Given the description of an element on the screen output the (x, y) to click on. 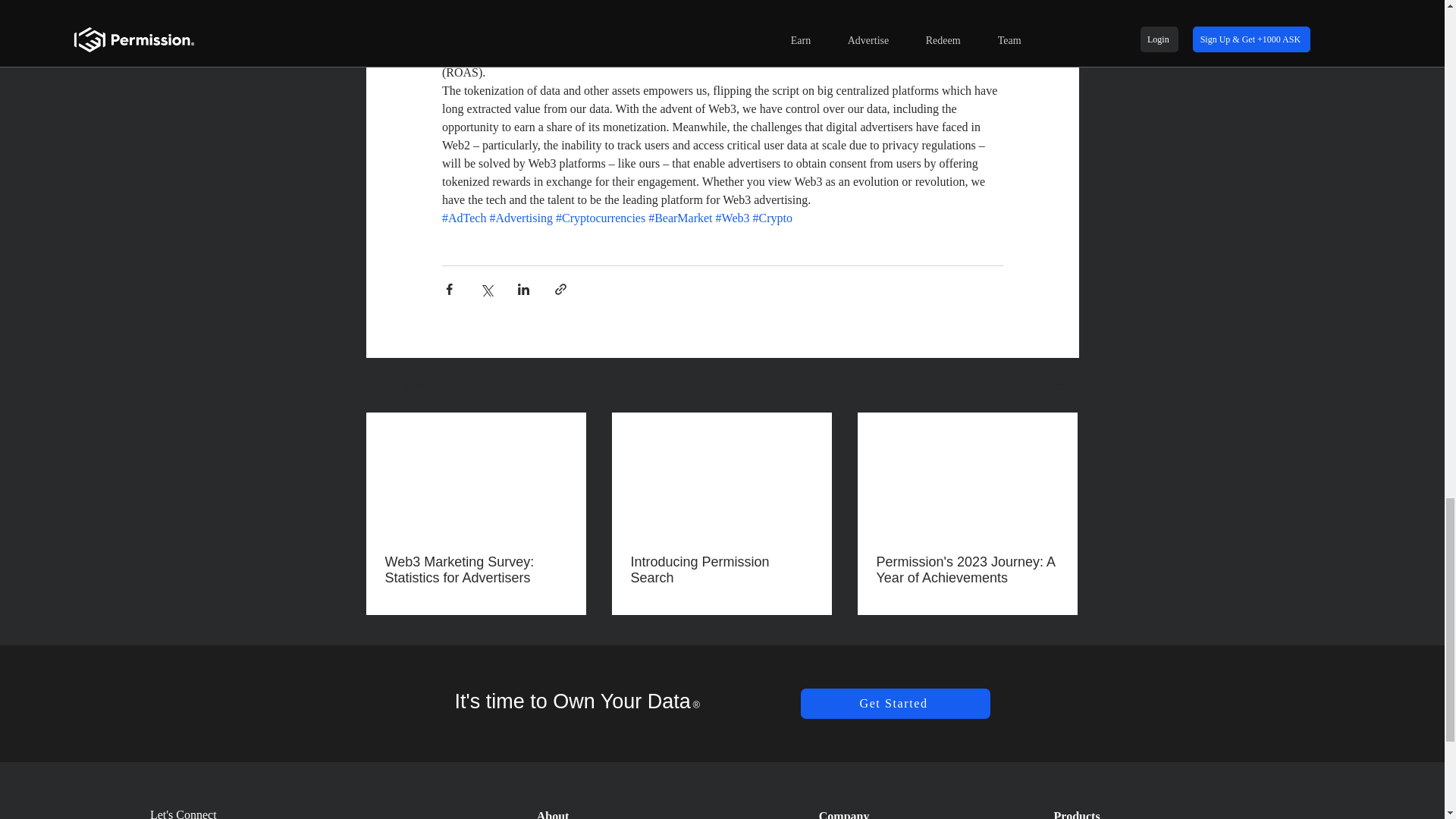
Introducing Permission Search (721, 570)
Get Started (895, 703)
Web3 Marketing Survey: Statistics for Advertisers (476, 570)
See All (1061, 386)
Permission's 2023 Journey: A Year of Achievements (967, 570)
